Given the description of an element on the screen output the (x, y) to click on. 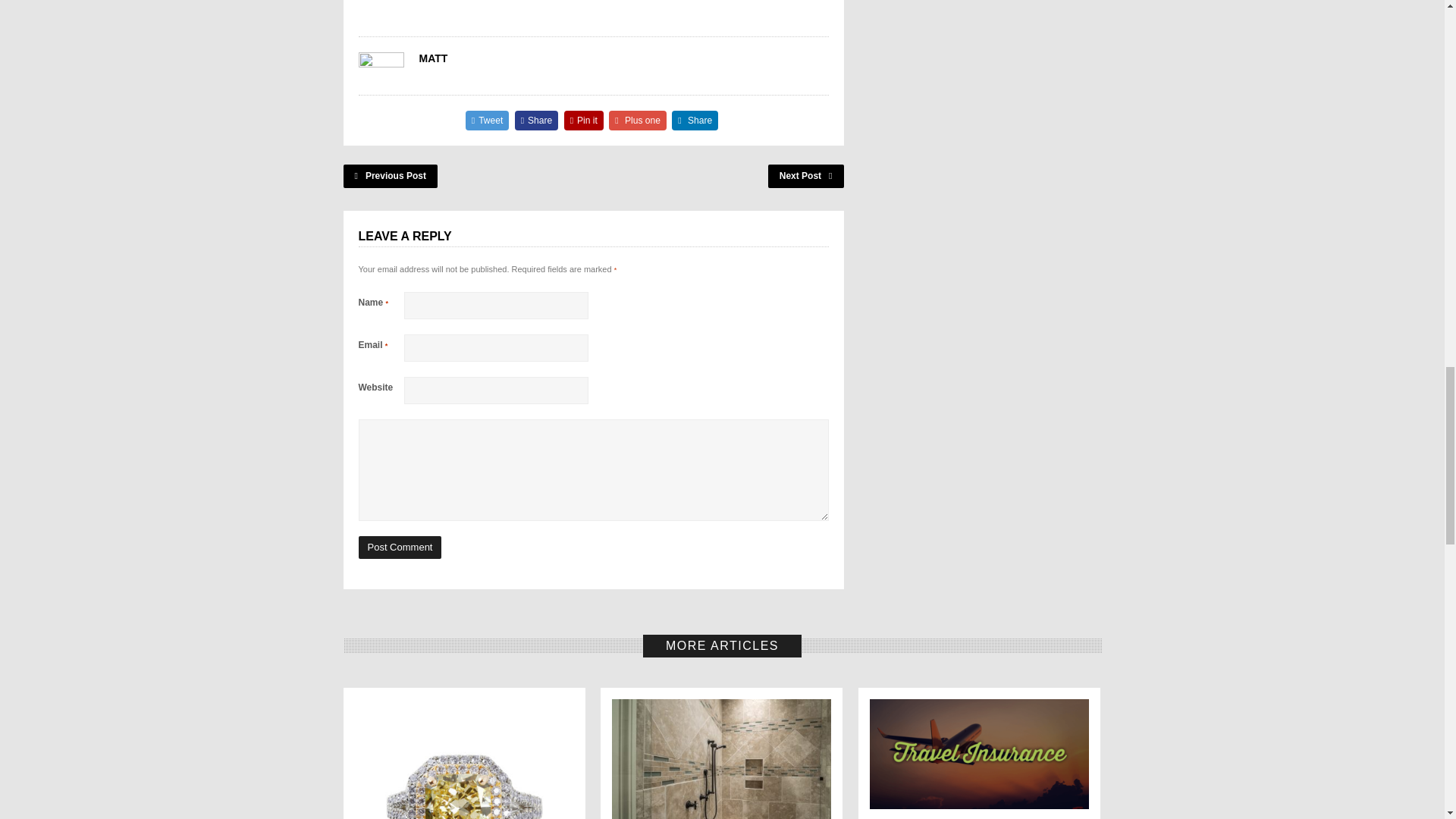
Share on Twitter (487, 120)
Share on LinkedIn (694, 120)
Post Comment (399, 547)
Posts by Matt (432, 58)
Share on Pinterest (584, 120)
Share on Facebook (537, 120)
